Given the description of an element on the screen output the (x, y) to click on. 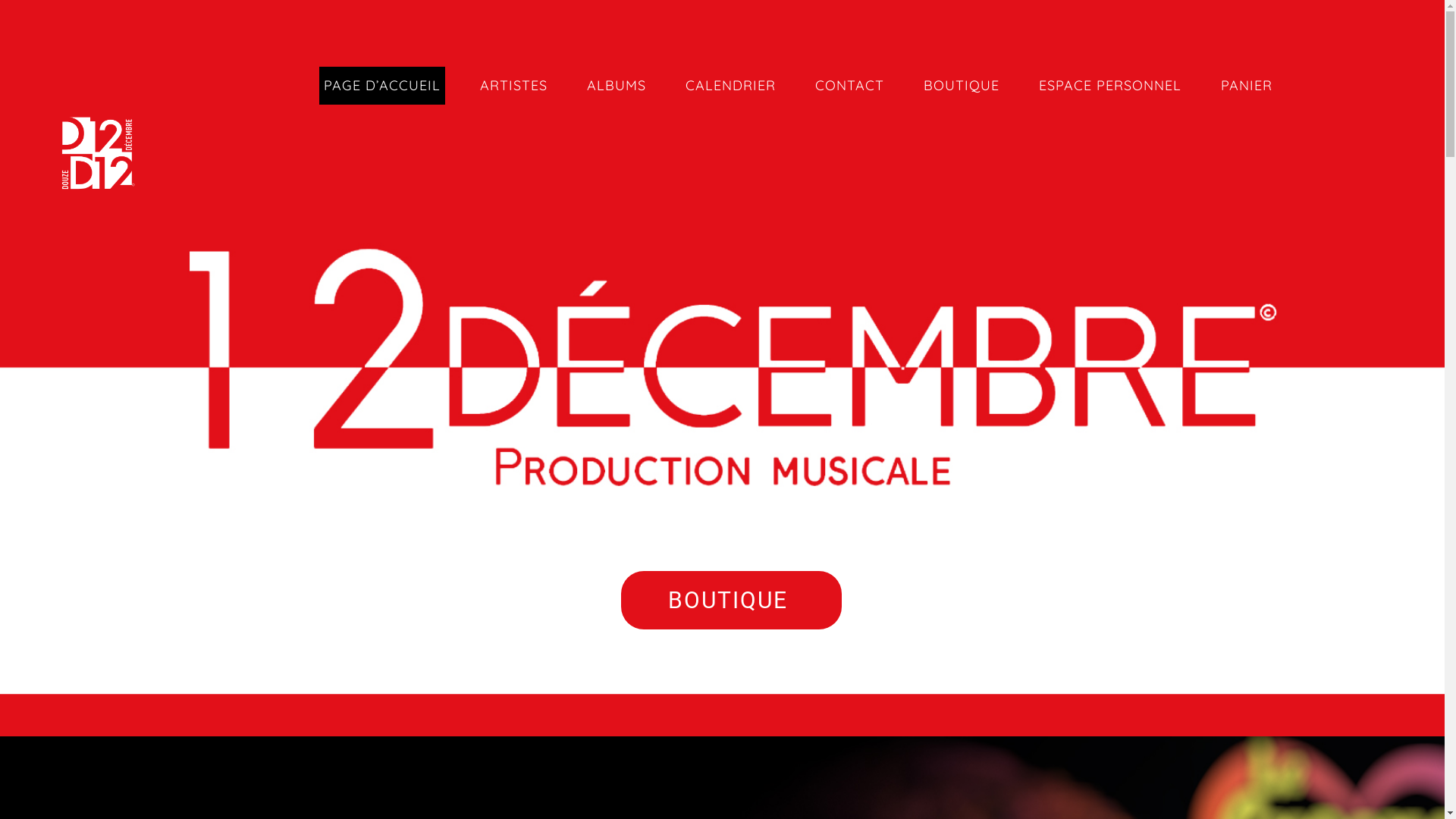
ARTISTES Element type: text (513, 85)
PANIER Element type: text (1246, 85)
BOUTIQUE Element type: text (961, 85)
CALENDRIER Element type: text (730, 85)
ALBUMS Element type: text (616, 85)
BOUTIQUE Element type: text (730, 600)
ESPACE PERSONNEL Element type: text (1110, 85)
CONTACT Element type: text (849, 85)
